Given the description of an element on the screen output the (x, y) to click on. 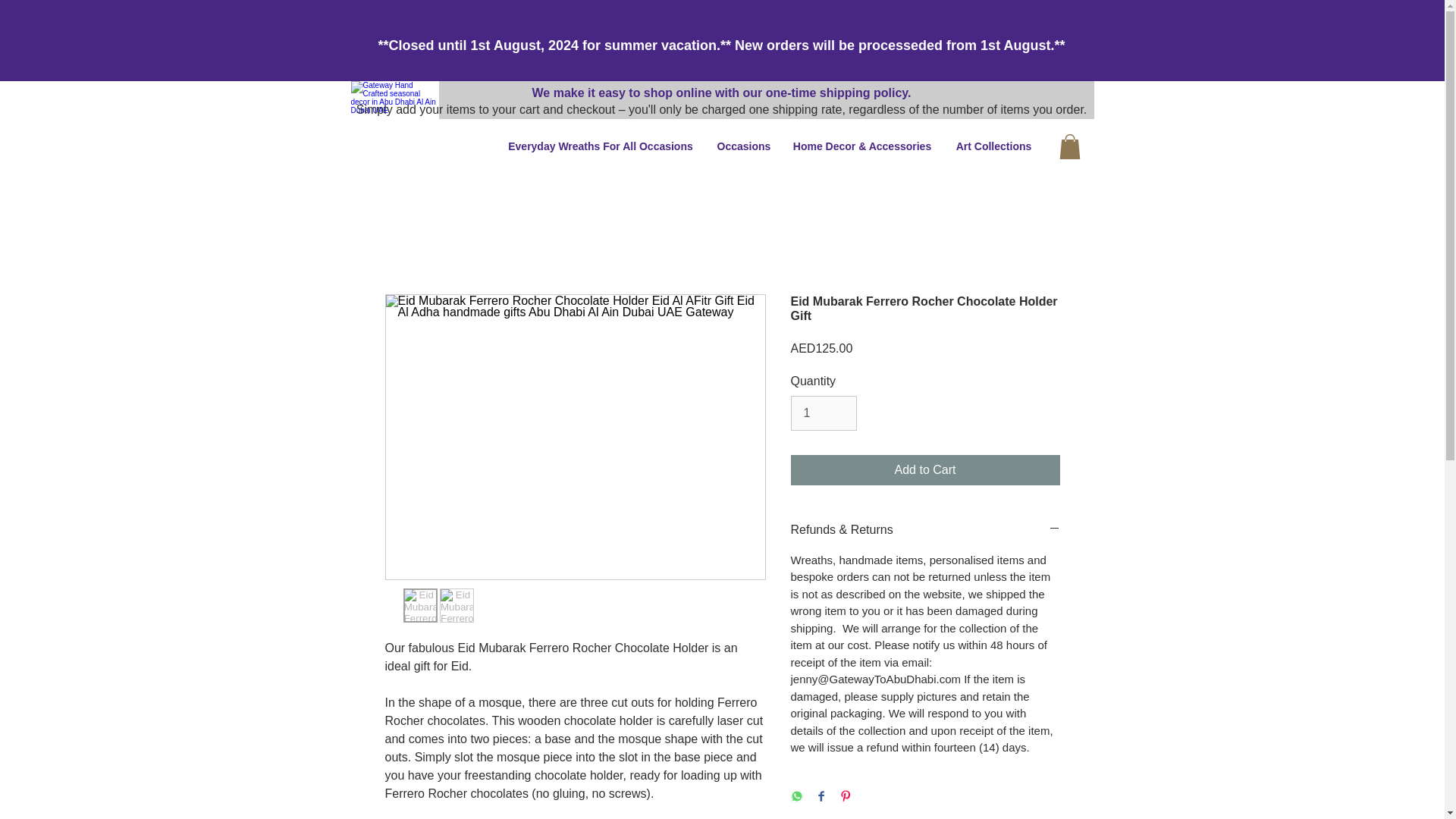
Occasions (742, 146)
1 (823, 412)
Art Collections (993, 146)
Everyday Wreaths For All Occasions (601, 146)
